Given the description of an element on the screen output the (x, y) to click on. 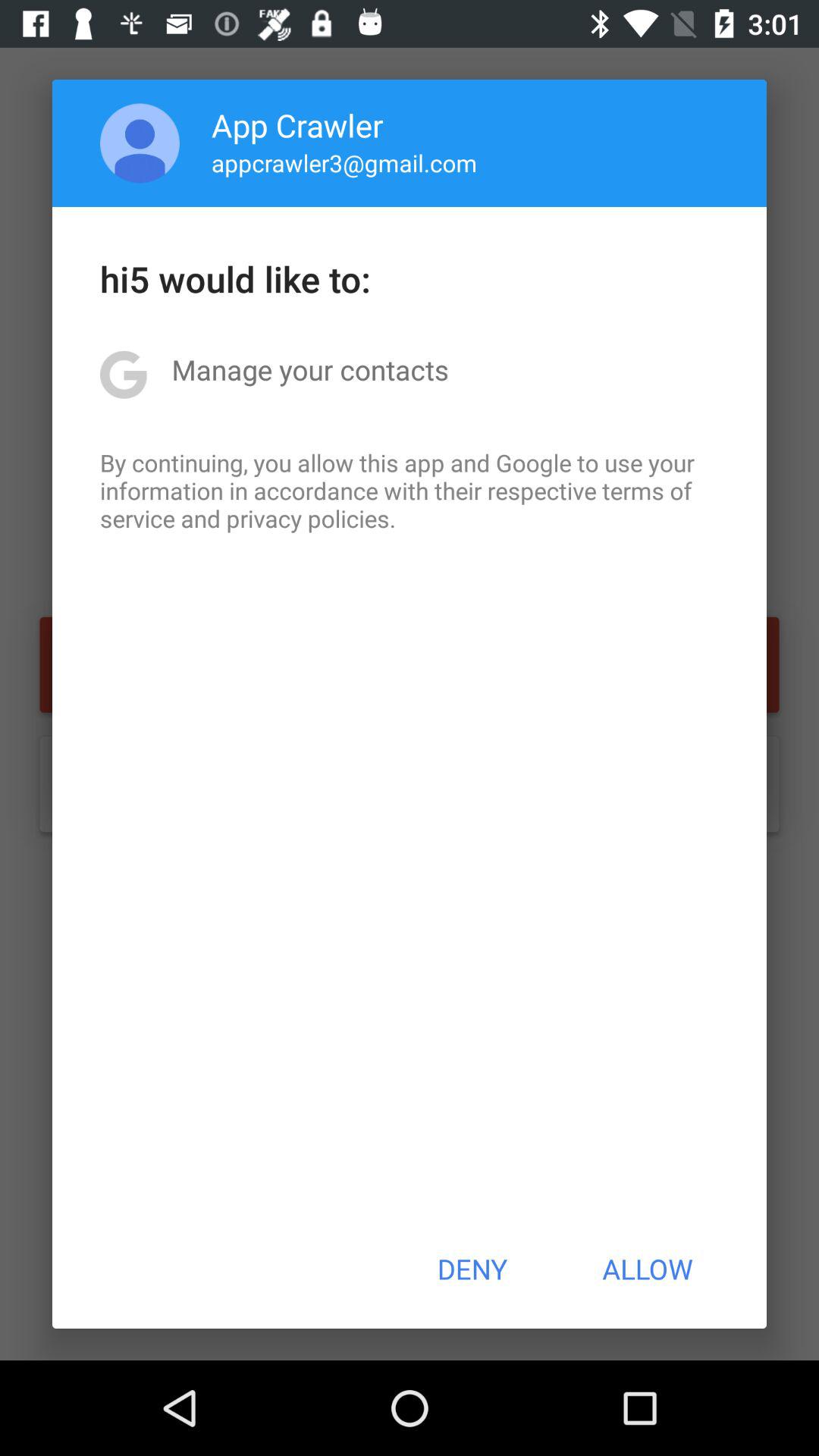
press icon above by continuing you (309, 369)
